Given the description of an element on the screen output the (x, y) to click on. 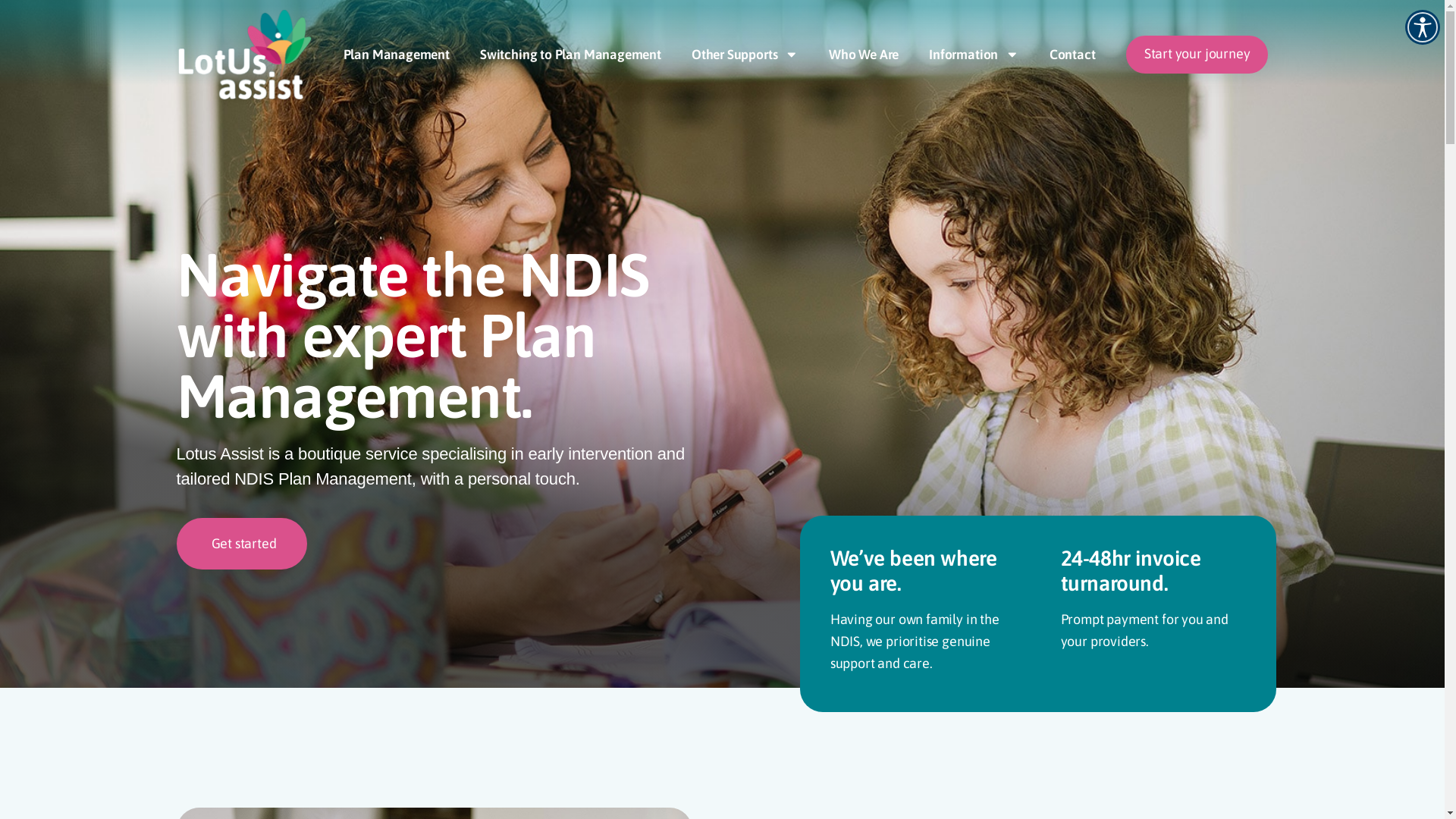
Other Supports Element type: text (744, 54)
Contact Element type: text (1072, 54)
Switching to Plan Management Element type: text (570, 54)
Get started Element type: text (240, 543)
Plan Management Element type: text (396, 54)
Information Element type: text (973, 54)
Start your journey Element type: text (1197, 54)
Who We Are Element type: text (863, 54)
